Given the description of an element on the screen output the (x, y) to click on. 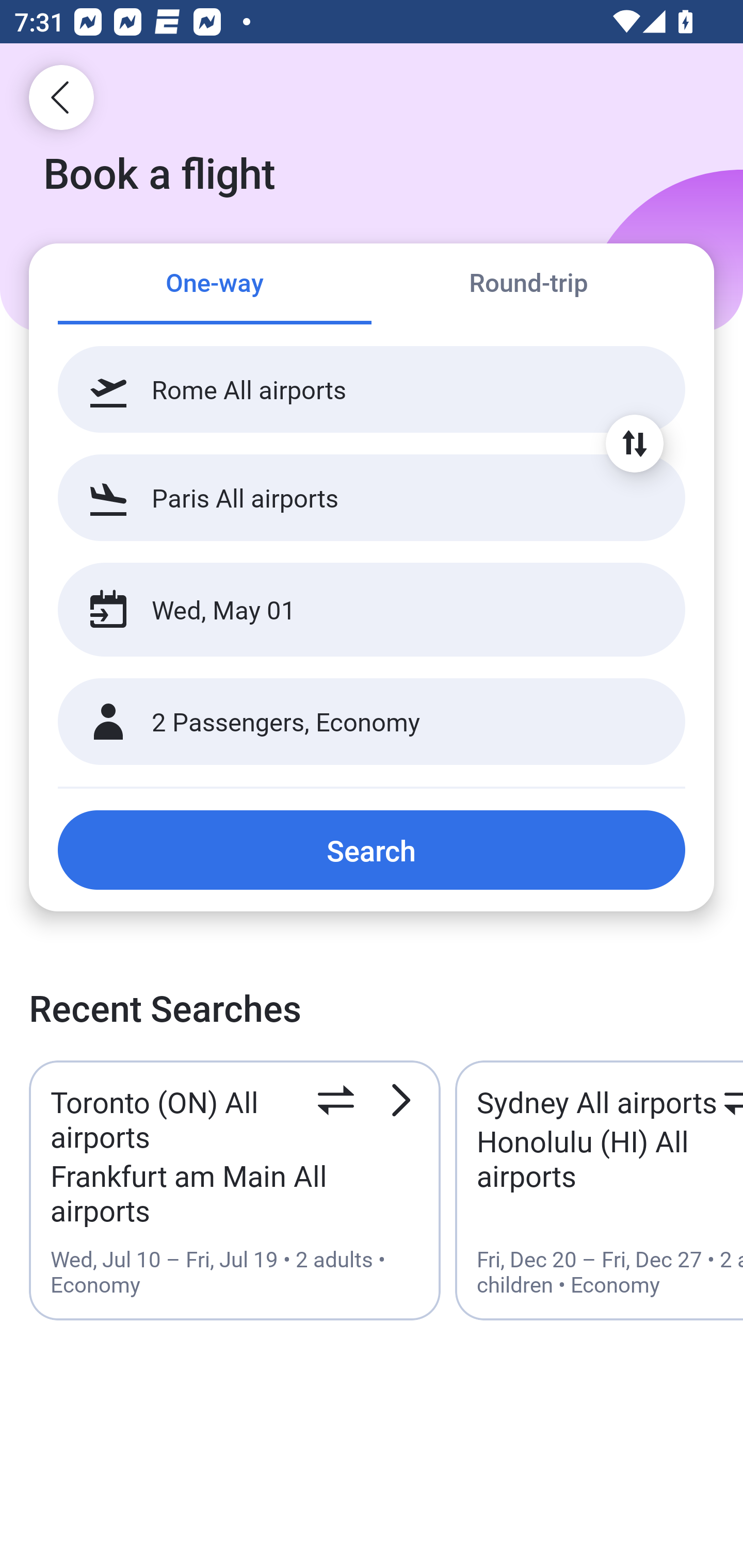
Round-trip (528, 284)
Rome All airports (371, 389)
Paris All airports (371, 497)
Wed, May 01 (349, 609)
2 Passengers, Economy (371, 721)
Search (371, 849)
